Given the description of an element on the screen output the (x, y) to click on. 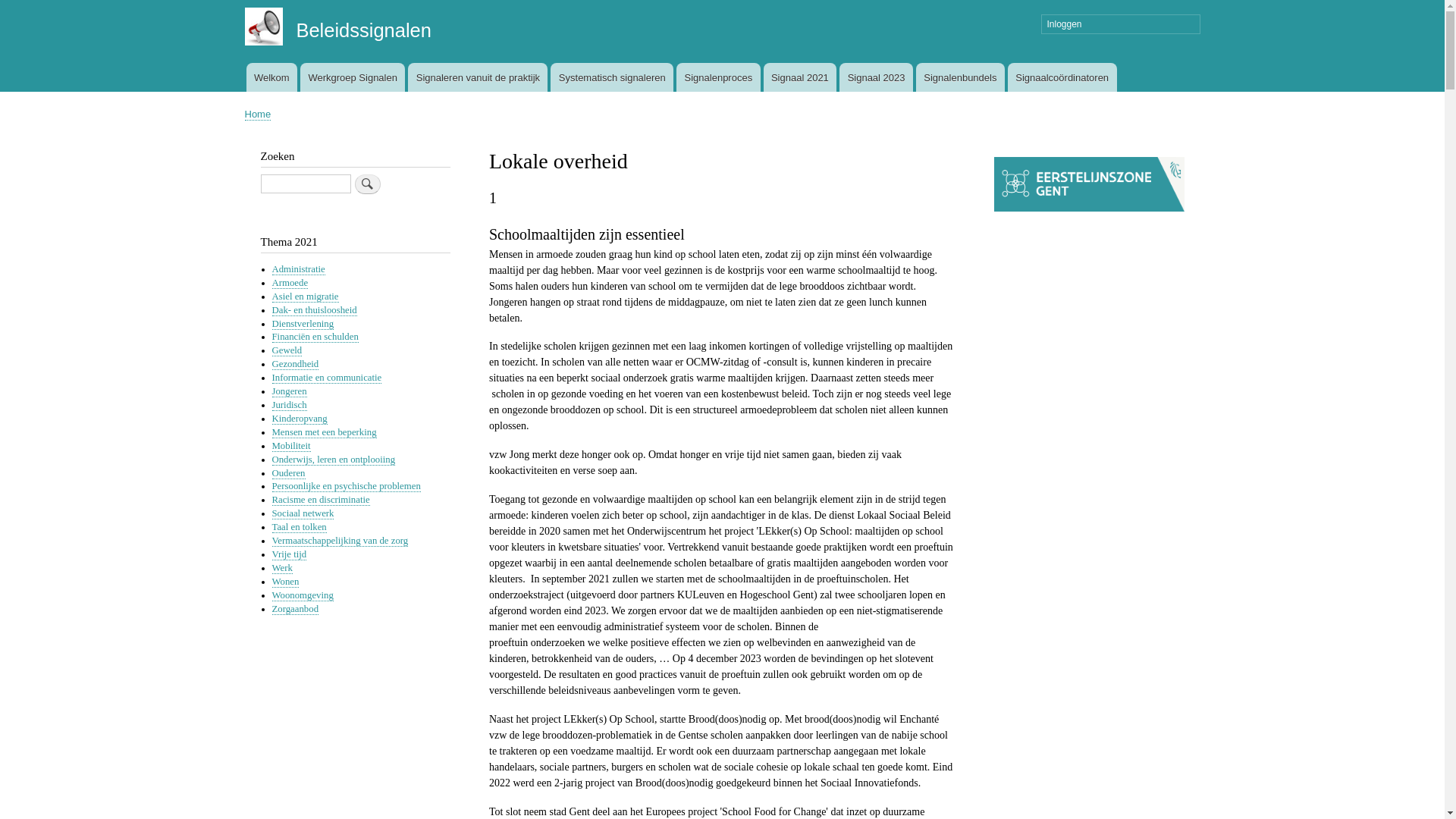
Home Element type: text (257, 114)
Dak- en thuisloosheid Element type: text (313, 310)
Kinderopvang Element type: text (298, 418)
Asiel en migratie Element type: text (304, 296)
Signalenbundels Element type: text (960, 76)
Juridisch Element type: text (288, 405)
Jongeren Element type: text (288, 391)
Dienstverlening Element type: text (302, 323)
Signaleren vanuit de praktijk Element type: text (477, 76)
Overslaan en naar de inhoud gaan Element type: text (722, 1)
Signaal 2021 Element type: text (800, 76)
Mensen met een beperking Element type: text (323, 432)
Vermaatschappelijking van de zorg Element type: text (339, 540)
Geweld Element type: text (286, 350)
Werkgroep Signalen Element type: text (352, 76)
Zoeken Element type: text (367, 184)
Welkom Element type: text (271, 76)
Vrije tijd Element type: text (288, 554)
Signaal 2023 Element type: text (876, 76)
Ouderen Element type: text (287, 472)
Systematisch signaleren Element type: text (611, 76)
Woonomgeving Element type: text (301, 595)
Gezondheid Element type: text (294, 364)
Taal en tolken Element type: text (298, 527)
Onderwijs, leren en ontplooiing Element type: text (333, 459)
Inloggen Element type: text (1120, 24)
Persoonlijke en psychische problemen Element type: text (345, 486)
Administratie Element type: text (297, 269)
Signalenproces Element type: text (717, 76)
Werk Element type: text (281, 568)
Informatie en communicatie Element type: text (326, 377)
Geef de woorden op waarnaar u wilt zoeken. Element type: hover (305, 183)
Mobiliteit Element type: text (290, 445)
Racisme en discriminatie Element type: text (320, 499)
Beleidssignalen Element type: text (363, 29)
Wonen Element type: text (284, 581)
Armoede Element type: text (289, 282)
Zorgaanbod Element type: text (294, 609)
Sociaal netwerk Element type: text (302, 513)
